Given the description of an element on the screen output the (x, y) to click on. 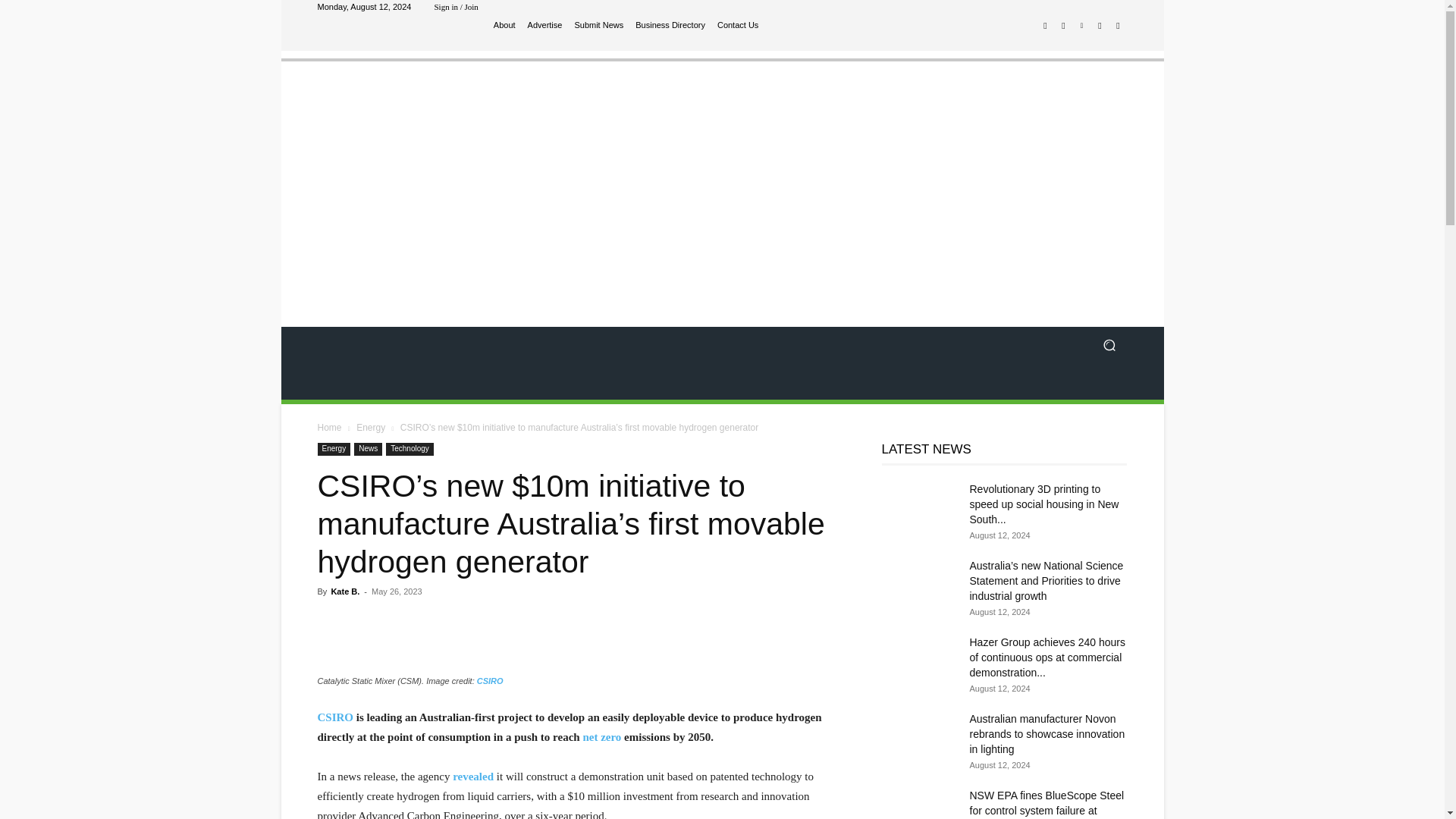
About (504, 25)
RSS (1099, 25)
Facebook (1044, 25)
Australian Manufacturing (425, 171)
Business Directory (669, 25)
Instagram (1062, 25)
Advertise (544, 25)
Linkedin (1080, 25)
Twitter (1117, 25)
Submit News (598, 25)
